Given the description of an element on the screen output the (x, y) to click on. 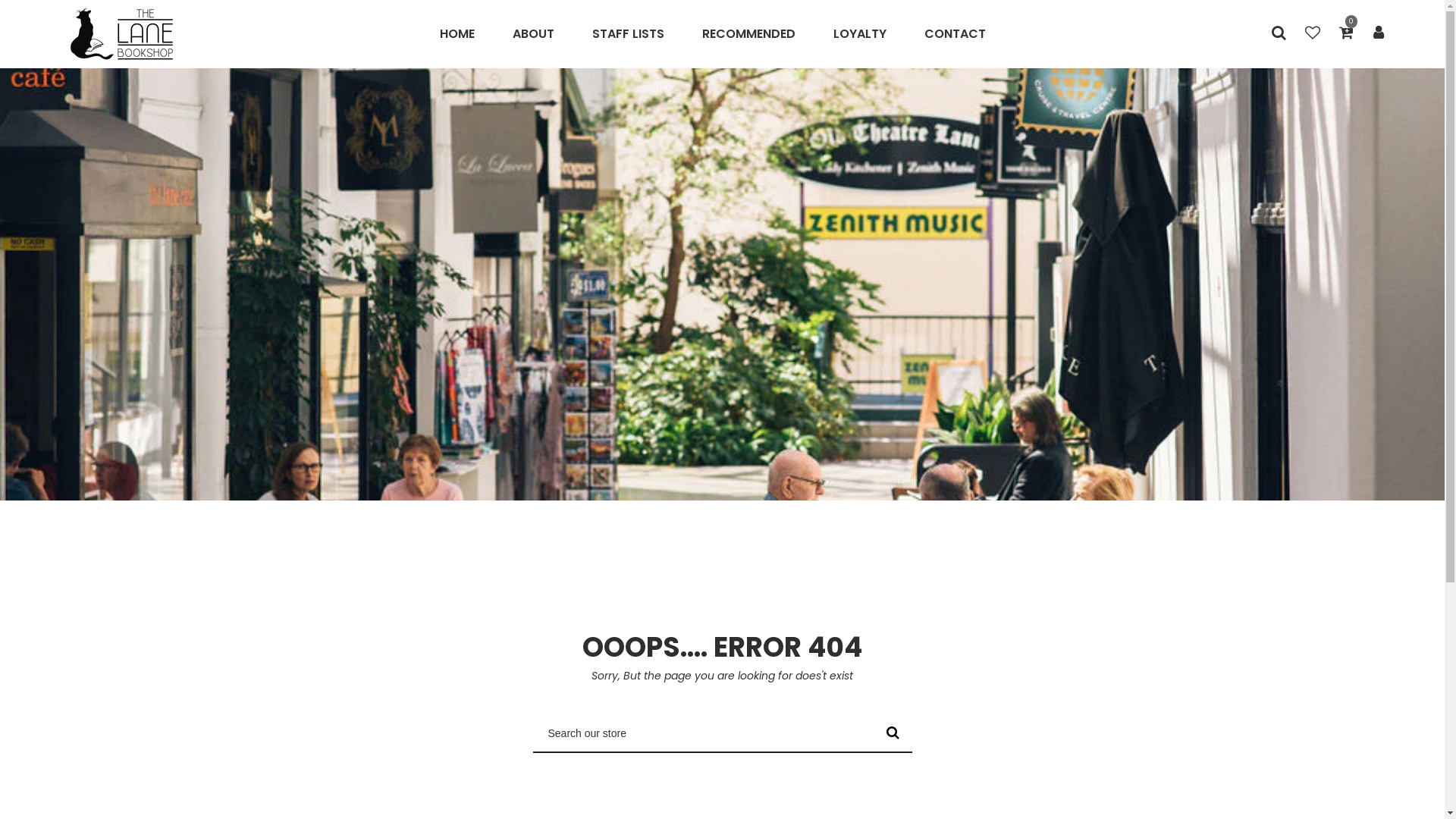
LOYALTY Element type: text (859, 34)
RECOMMENDED Element type: text (748, 34)
0 Element type: text (1346, 34)
HOME Element type: text (466, 34)
CONTACT Element type: text (954, 34)
ABOUT Element type: text (533, 34)
STAFF LISTS Element type: text (628, 34)
